Given the description of an element on the screen output the (x, y) to click on. 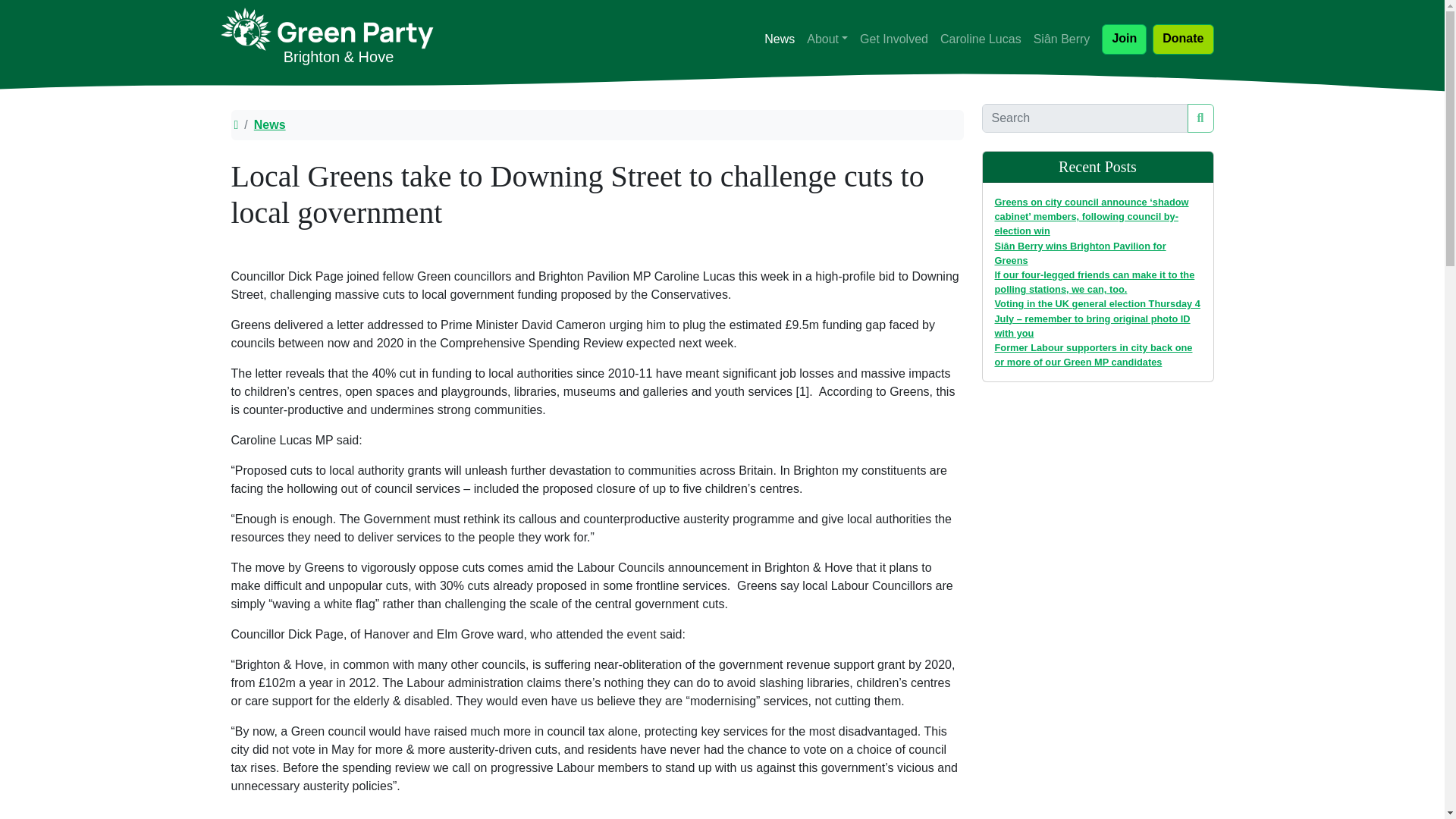
News (779, 39)
About (826, 39)
Join (1124, 39)
Search (1201, 118)
Get Involved (893, 39)
News (269, 124)
Caroline Lucas (980, 39)
News (596, 124)
Donate (1182, 39)
